Given the description of an element on the screen output the (x, y) to click on. 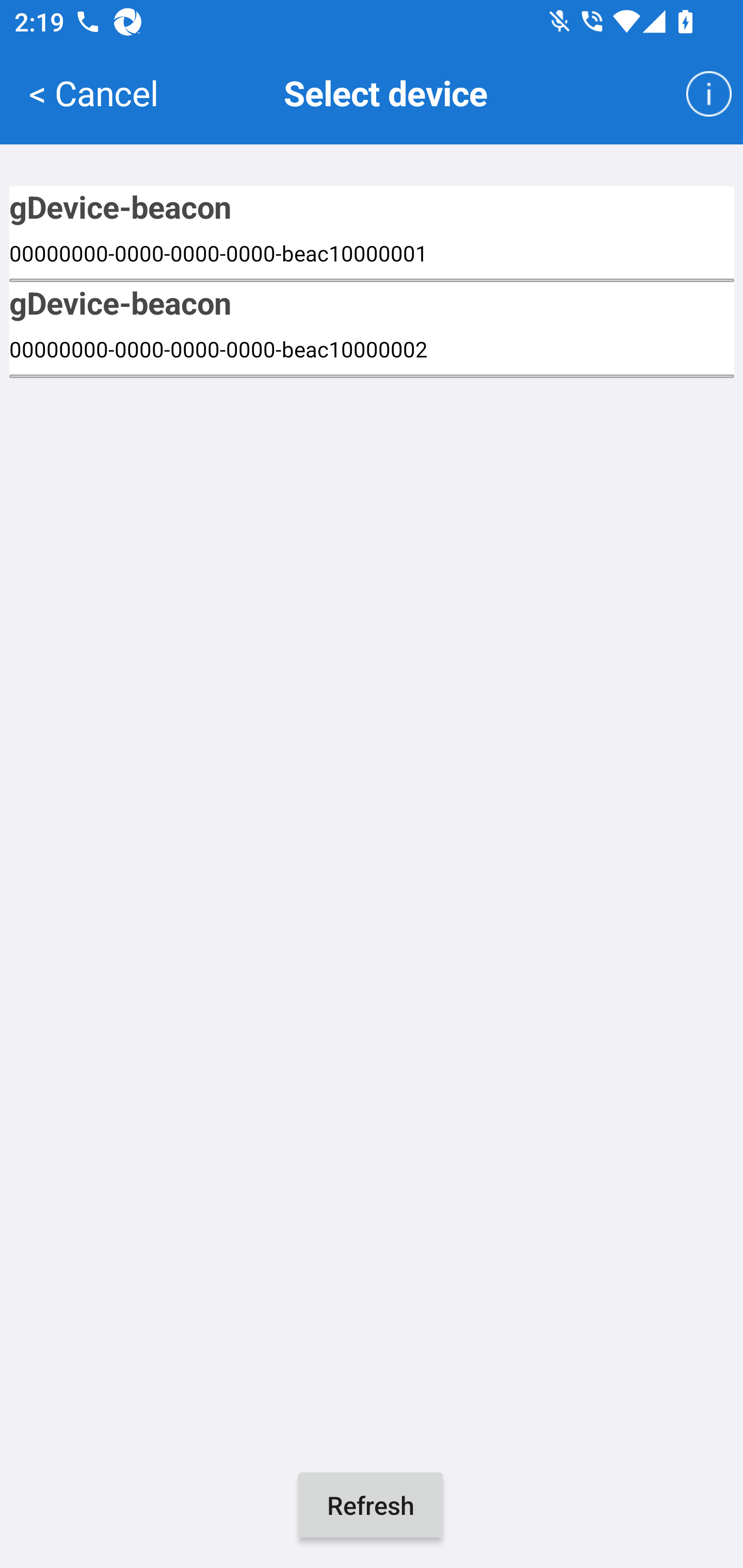
< Cancel (93, 92)
Refresh (370, 1505)
